Given the description of an element on the screen output the (x, y) to click on. 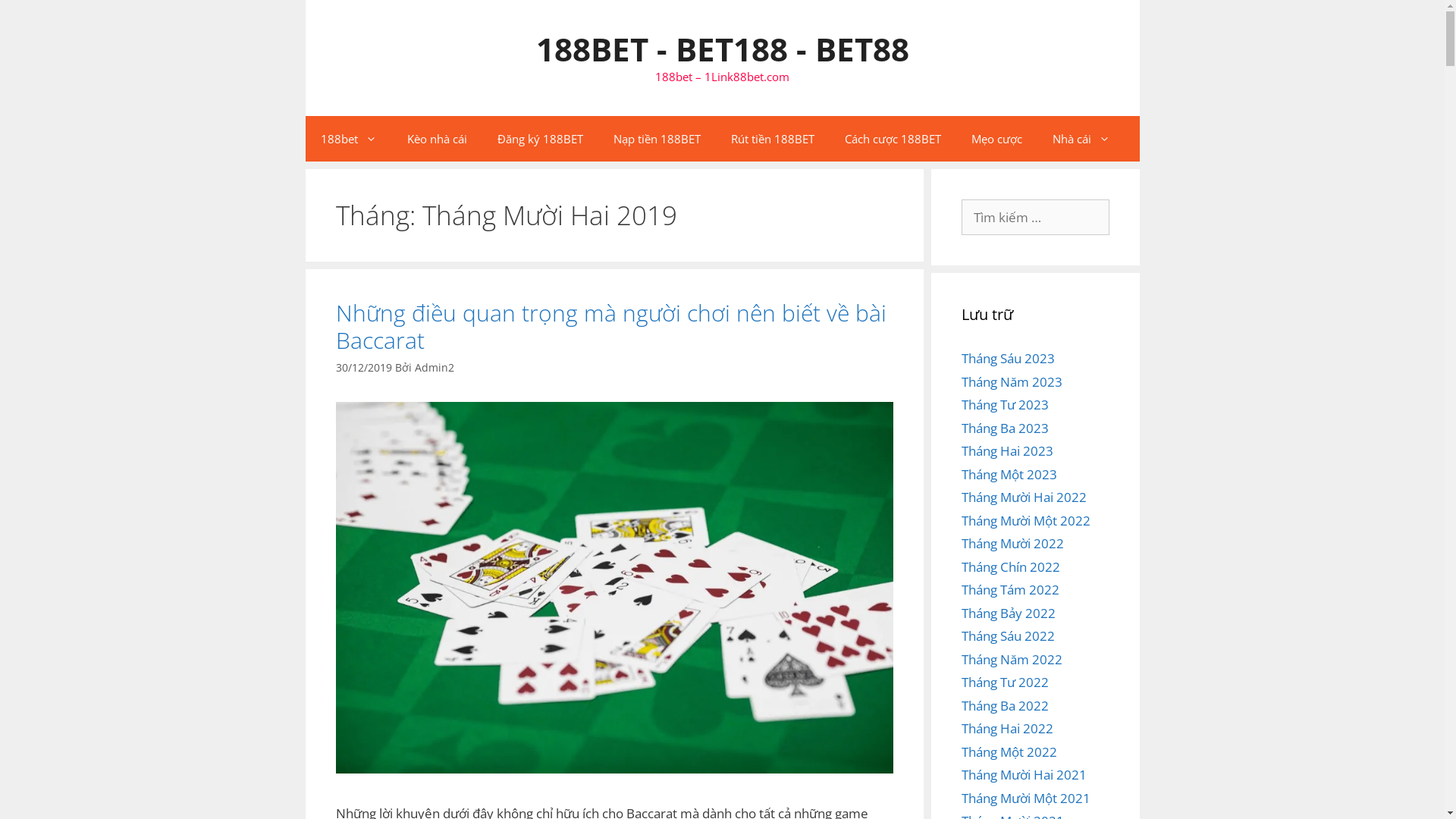
Admin2 Element type: text (433, 367)
188bet Element type: text (347, 138)
188BET - BET188 - BET88 Element type: text (721, 48)
